Given the description of an element on the screen output the (x, y) to click on. 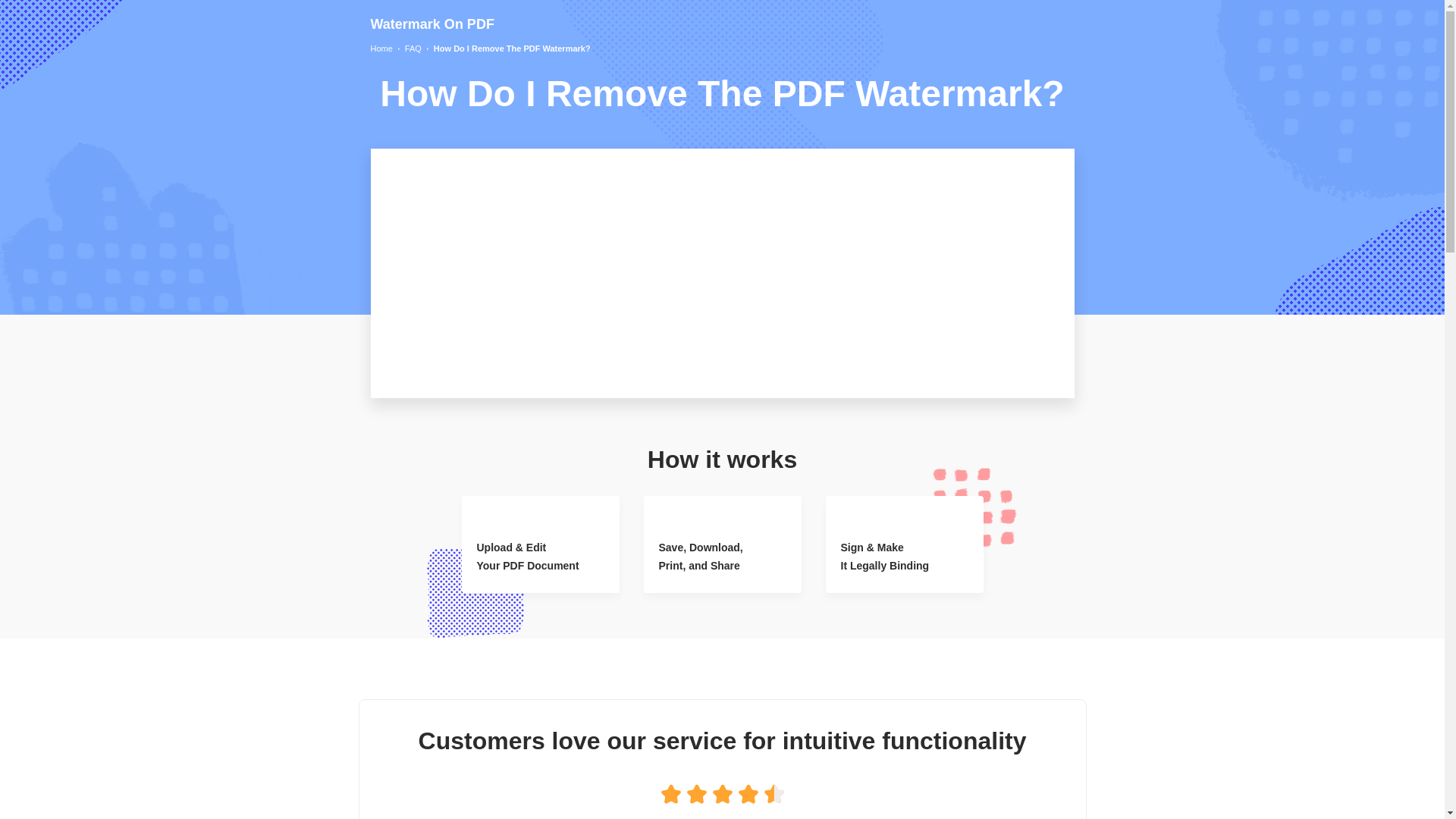
Home (380, 48)
Watermark On PDF (431, 23)
FAQ (413, 48)
How Do I Remove The PDF Watermark? (512, 48)
